Given the description of an element on the screen output the (x, y) to click on. 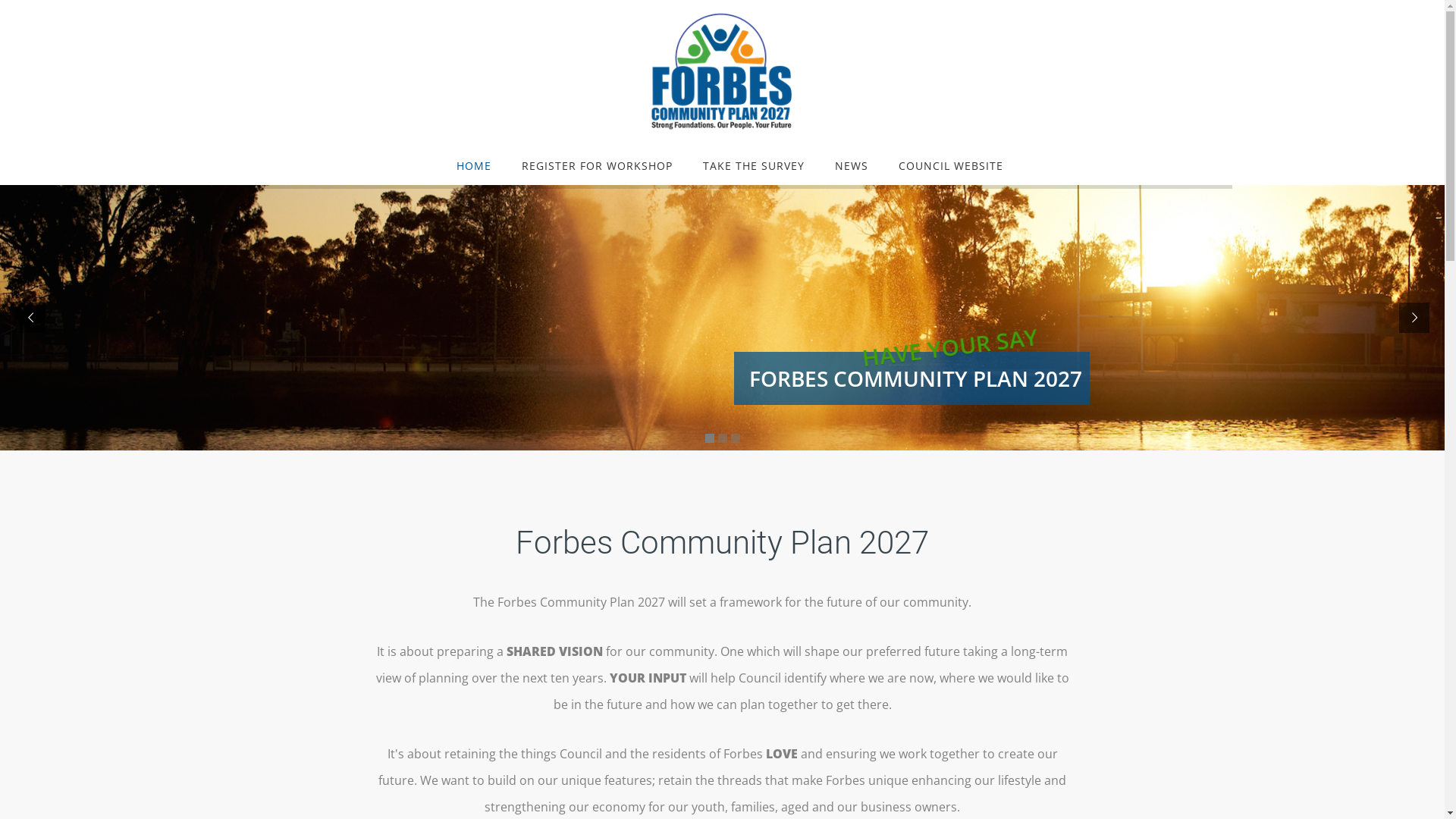
HOME Element type: text (473, 165)
NEWS Element type: text (851, 165)
REGISTER FOR WORKSHOP Element type: text (596, 165)
TAKE THE SURVEY Element type: text (753, 165)
COUNCIL WEBSITE Element type: text (943, 165)
